Given the description of an element on the screen output the (x, y) to click on. 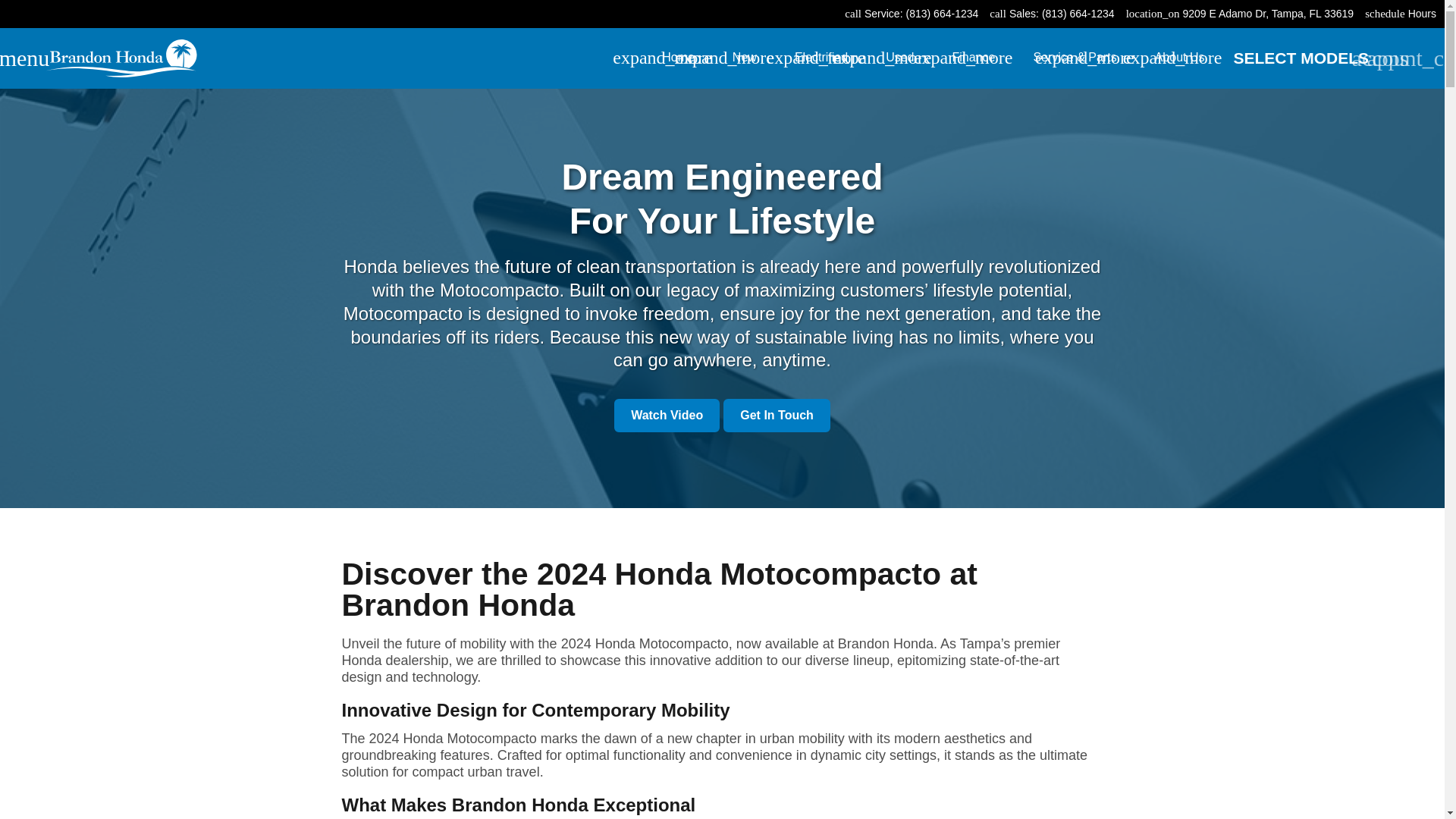
New (753, 57)
9209 E Adamo Dr, Tampa, FL 33619 (1268, 13)
Hours (1421, 13)
menu (24, 58)
Home (686, 57)
